Given the description of an element on the screen output the (x, y) to click on. 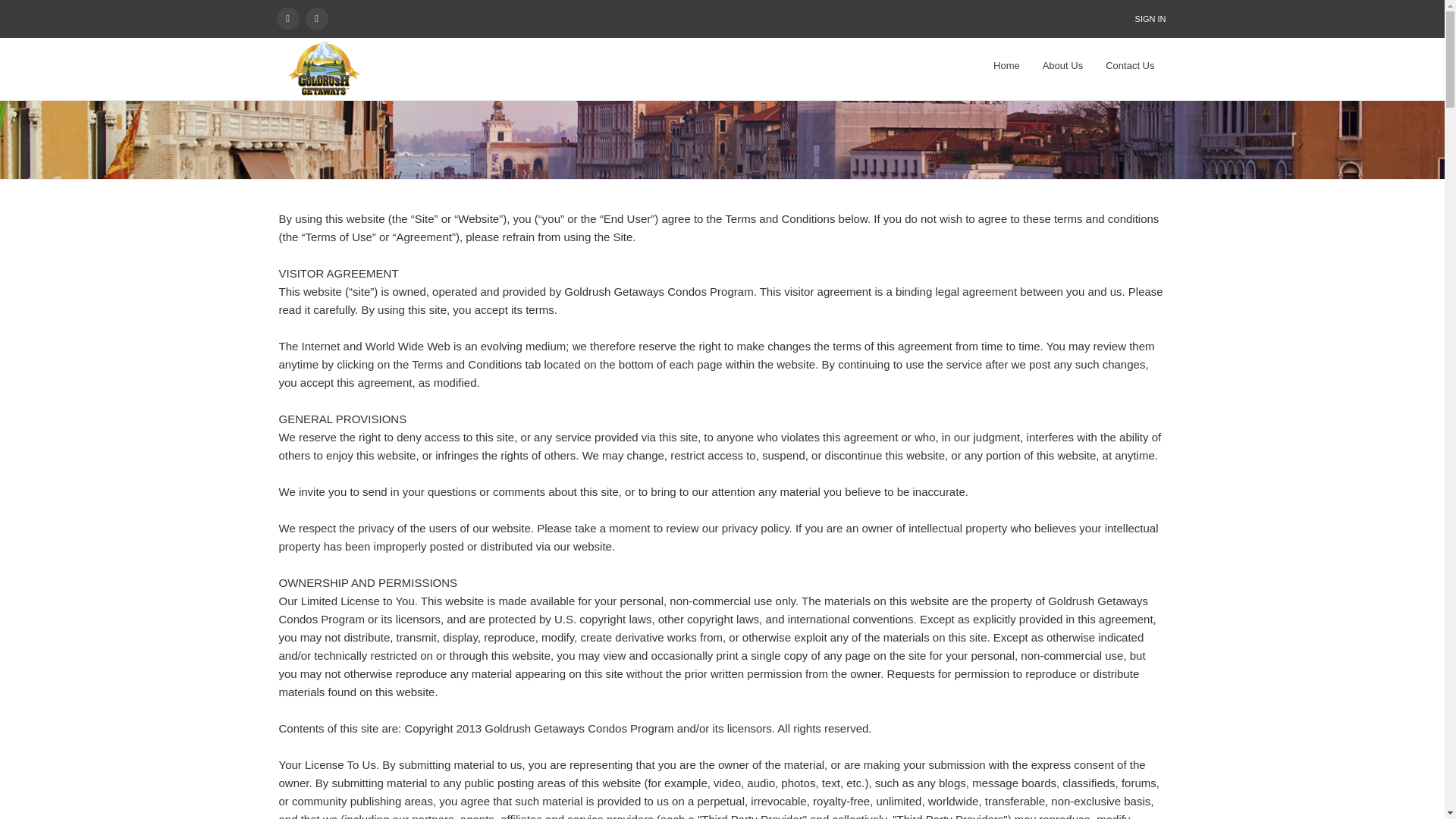
SIGN IN (1150, 18)
Home (1005, 65)
About Us (1062, 65)
Contact Us (1130, 65)
